Given the description of an element on the screen output the (x, y) to click on. 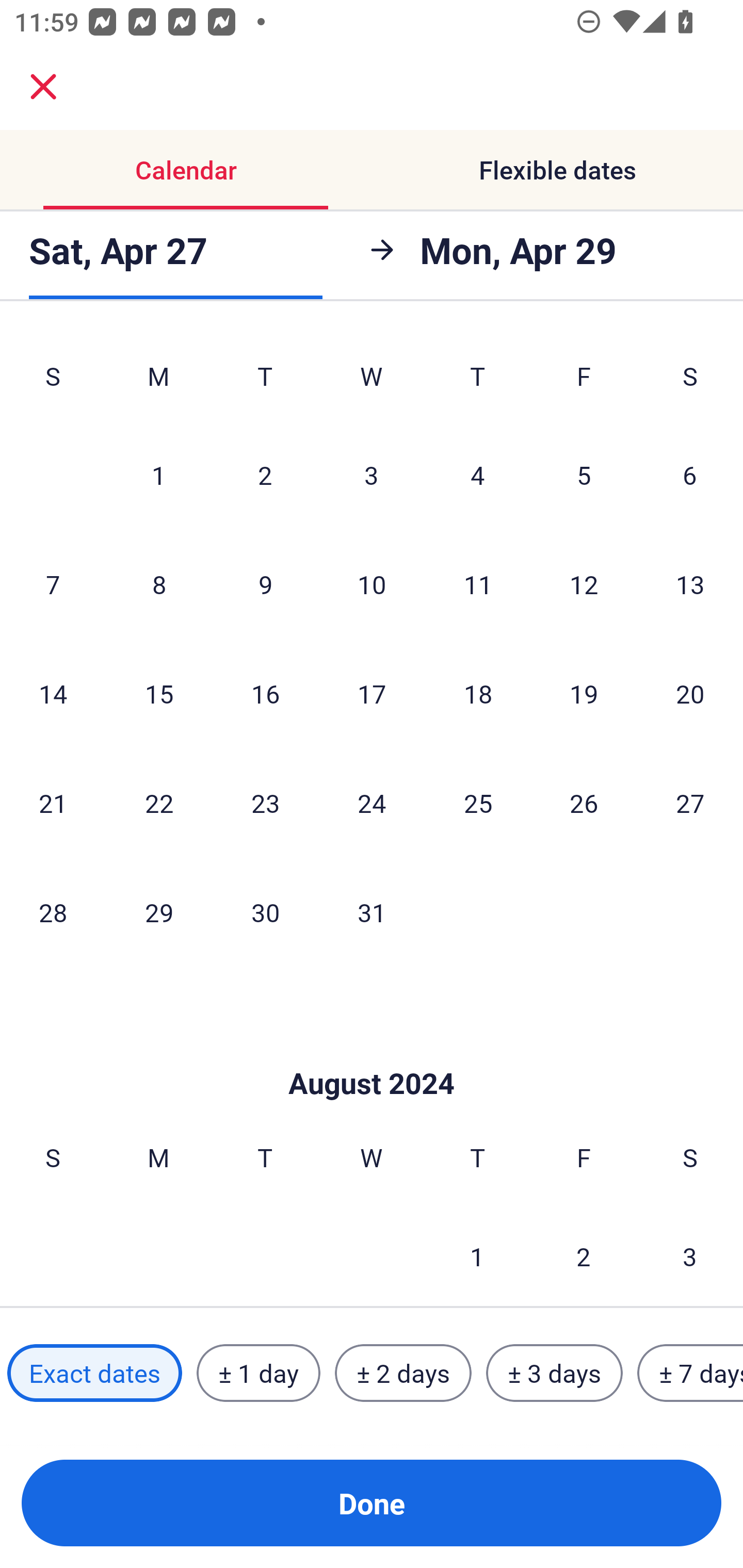
close. (43, 86)
Flexible dates (557, 170)
1 Monday, July 1, 2024 (158, 474)
2 Tuesday, July 2, 2024 (264, 474)
3 Wednesday, July 3, 2024 (371, 474)
4 Thursday, July 4, 2024 (477, 474)
5 Friday, July 5, 2024 (583, 474)
6 Saturday, July 6, 2024 (689, 474)
7 Sunday, July 7, 2024 (53, 583)
8 Monday, July 8, 2024 (159, 583)
9 Tuesday, July 9, 2024 (265, 583)
10 Wednesday, July 10, 2024 (371, 583)
11 Thursday, July 11, 2024 (477, 583)
12 Friday, July 12, 2024 (584, 583)
13 Saturday, July 13, 2024 (690, 583)
14 Sunday, July 14, 2024 (53, 693)
15 Monday, July 15, 2024 (159, 693)
16 Tuesday, July 16, 2024 (265, 693)
17 Wednesday, July 17, 2024 (371, 693)
18 Thursday, July 18, 2024 (477, 693)
19 Friday, July 19, 2024 (584, 693)
20 Saturday, July 20, 2024 (690, 693)
21 Sunday, July 21, 2024 (53, 802)
22 Monday, July 22, 2024 (159, 802)
23 Tuesday, July 23, 2024 (265, 802)
24 Wednesday, July 24, 2024 (371, 802)
25 Thursday, July 25, 2024 (477, 802)
26 Friday, July 26, 2024 (584, 802)
27 Saturday, July 27, 2024 (690, 802)
28 Sunday, July 28, 2024 (53, 911)
29 Monday, July 29, 2024 (159, 911)
30 Tuesday, July 30, 2024 (265, 911)
31 Wednesday, July 31, 2024 (371, 911)
Skip to Done (371, 1052)
1 Thursday, August 1, 2024 (477, 1254)
2 Friday, August 2, 2024 (583, 1254)
3 Saturday, August 3, 2024 (689, 1254)
Exact dates (94, 1372)
± 1 day (258, 1372)
± 2 days (403, 1372)
± 3 days (553, 1372)
± 7 days (690, 1372)
Done (371, 1502)
